Given the description of an element on the screen output the (x, y) to click on. 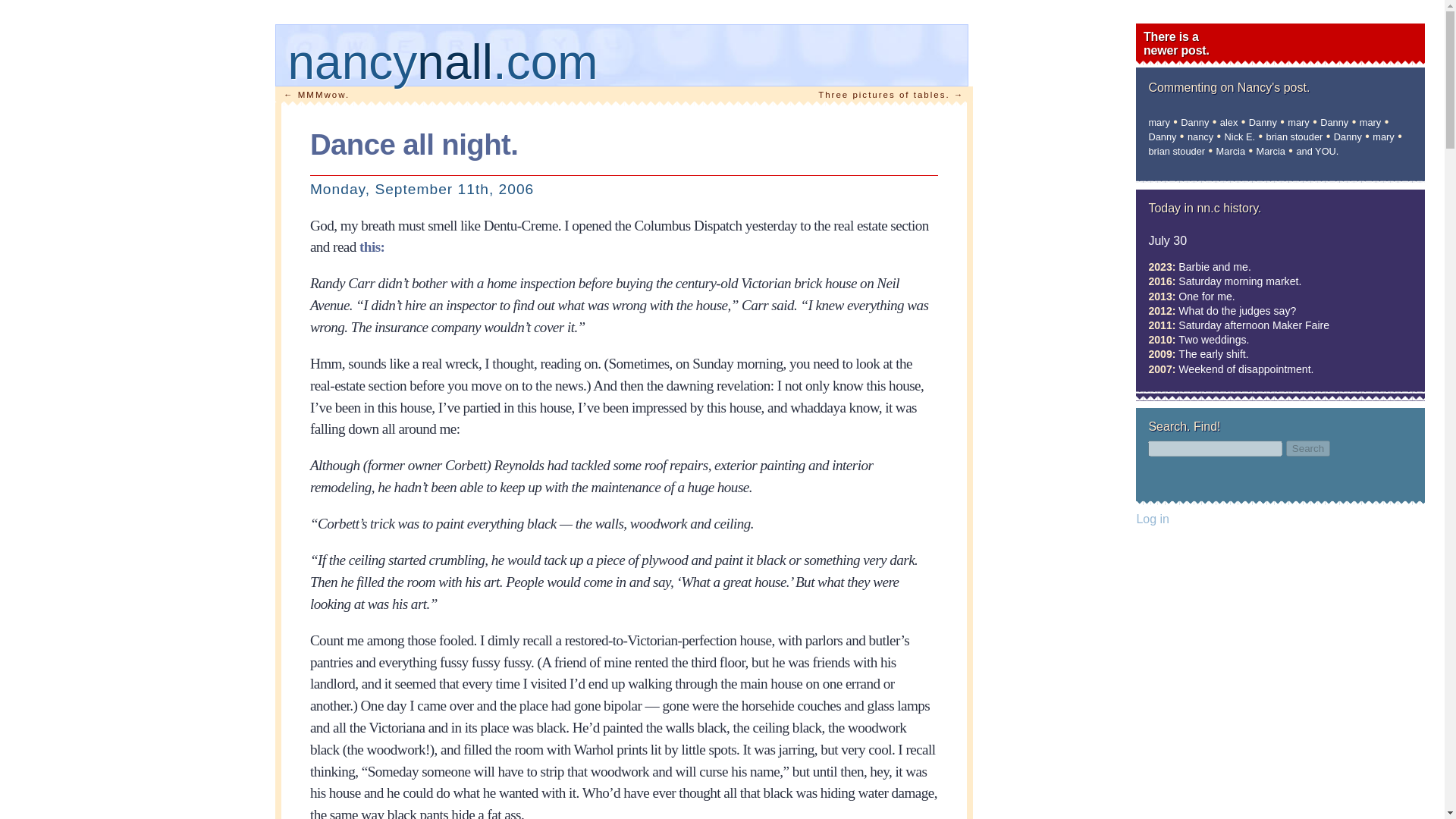
mary (1369, 122)
7 (1280, 44)
Nancy's post. (1369, 122)
this: (1273, 90)
2023: Barbie and me. (371, 246)
nancy (1204, 266)
Permalink to Dance all night. (1200, 136)
15 (414, 151)
nancynall.com (1229, 151)
Search (628, 71)
Danny (1307, 448)
nancynall.com (1334, 122)
mary (628, 71)
16 (1158, 122)
